Given the description of an element on the screen output the (x, y) to click on. 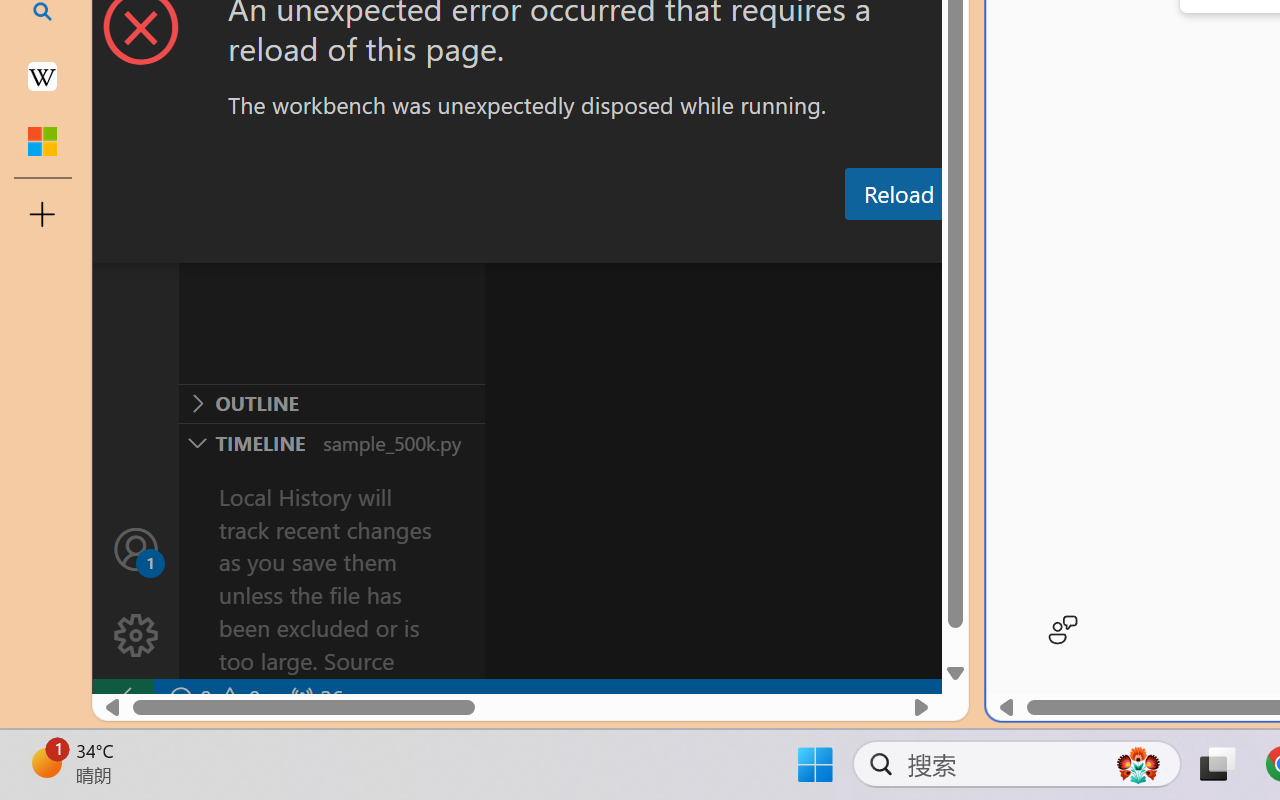
Outline Section (331, 403)
Reload (898, 193)
remote (122, 698)
Accounts - Sign in requested (135, 548)
Terminal (Ctrl+`) (1021, 243)
